Given the description of an element on the screen output the (x, y) to click on. 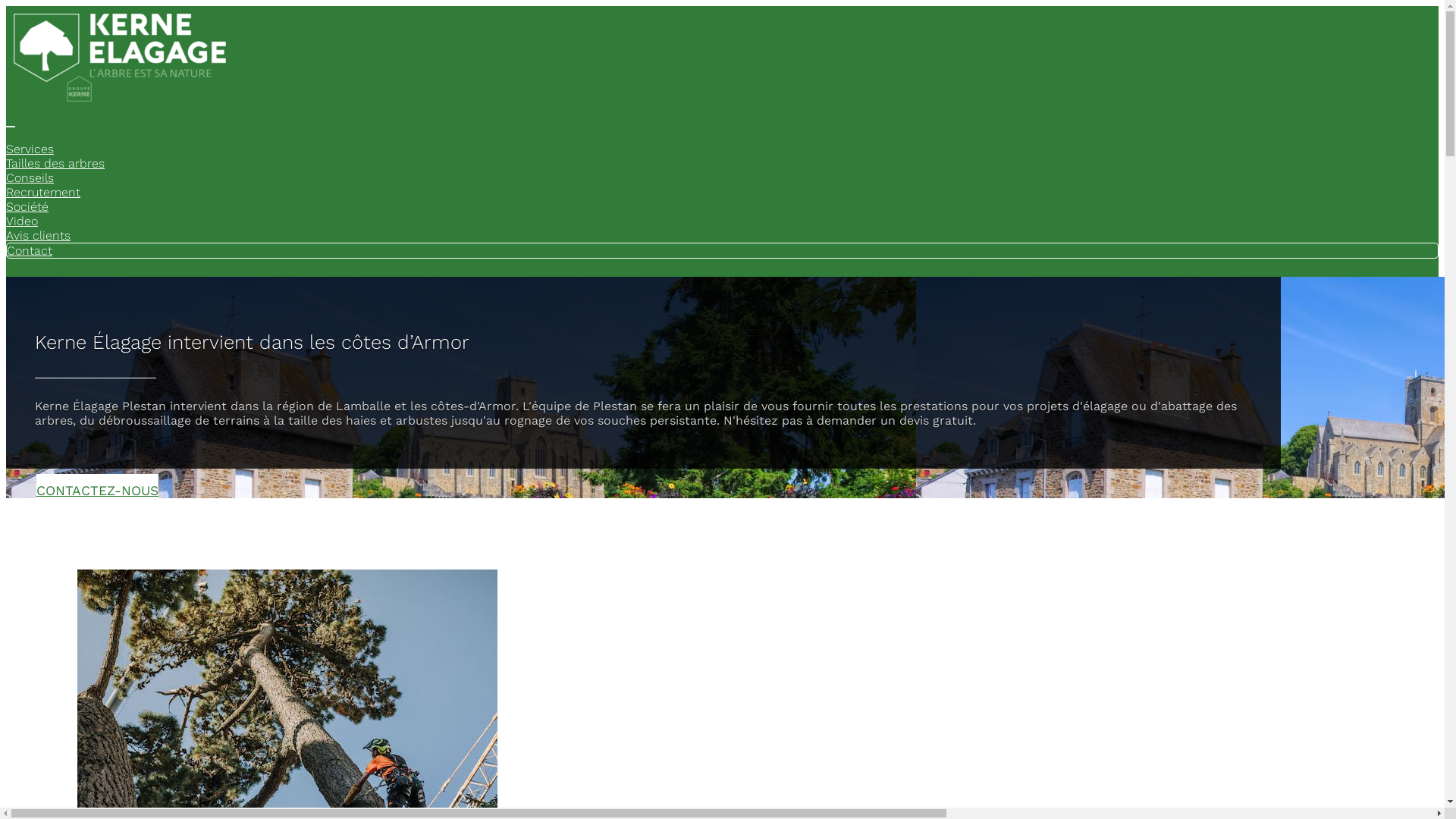
Contact Element type: text (29, 250)
Tailles des arbres Element type: text (55, 163)
Recrutement Element type: text (43, 192)
Services Element type: text (29, 148)
Video Element type: text (21, 220)
CONTACTEZ-NOUS Element type: text (97, 485)
Avis clients Element type: text (38, 235)
Conseils Element type: text (29, 177)
